Given the description of an element on the screen output the (x, y) to click on. 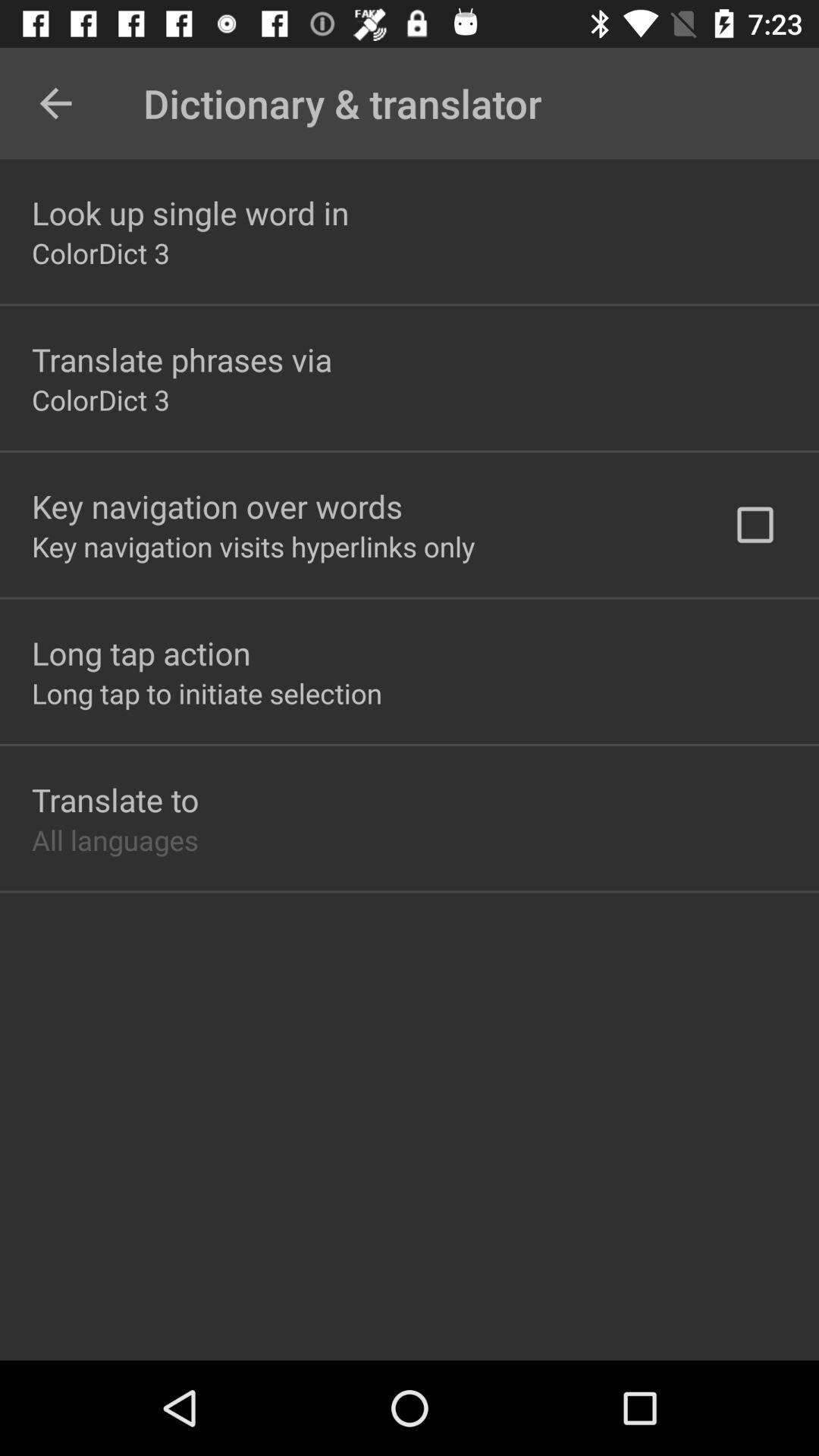
choose the item next to the dictionary & translator icon (55, 103)
